Given the description of an element on the screen output the (x, y) to click on. 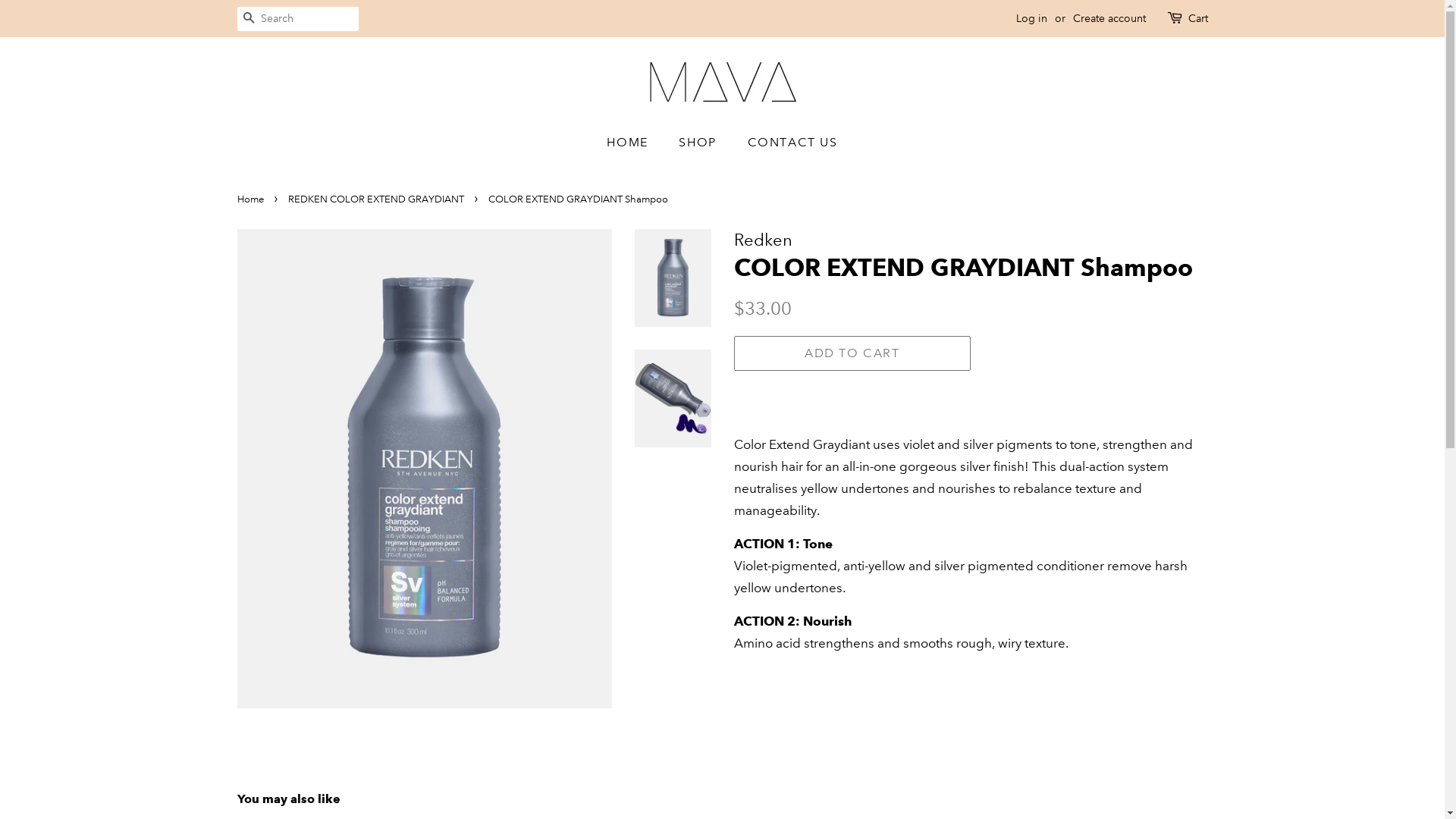
HOME Element type: text (634, 141)
SHOP Element type: text (699, 141)
Home Element type: text (251, 199)
Cart Element type: text (1197, 18)
Log in Element type: text (1031, 18)
ADD TO CART Element type: text (852, 353)
SEARCH Element type: text (248, 18)
Create account Element type: text (1108, 18)
REDKEN COLOR EXTEND GRAYDIANT Element type: text (377, 199)
CONTACT US Element type: text (786, 141)
